Given the description of an element on the screen output the (x, y) to click on. 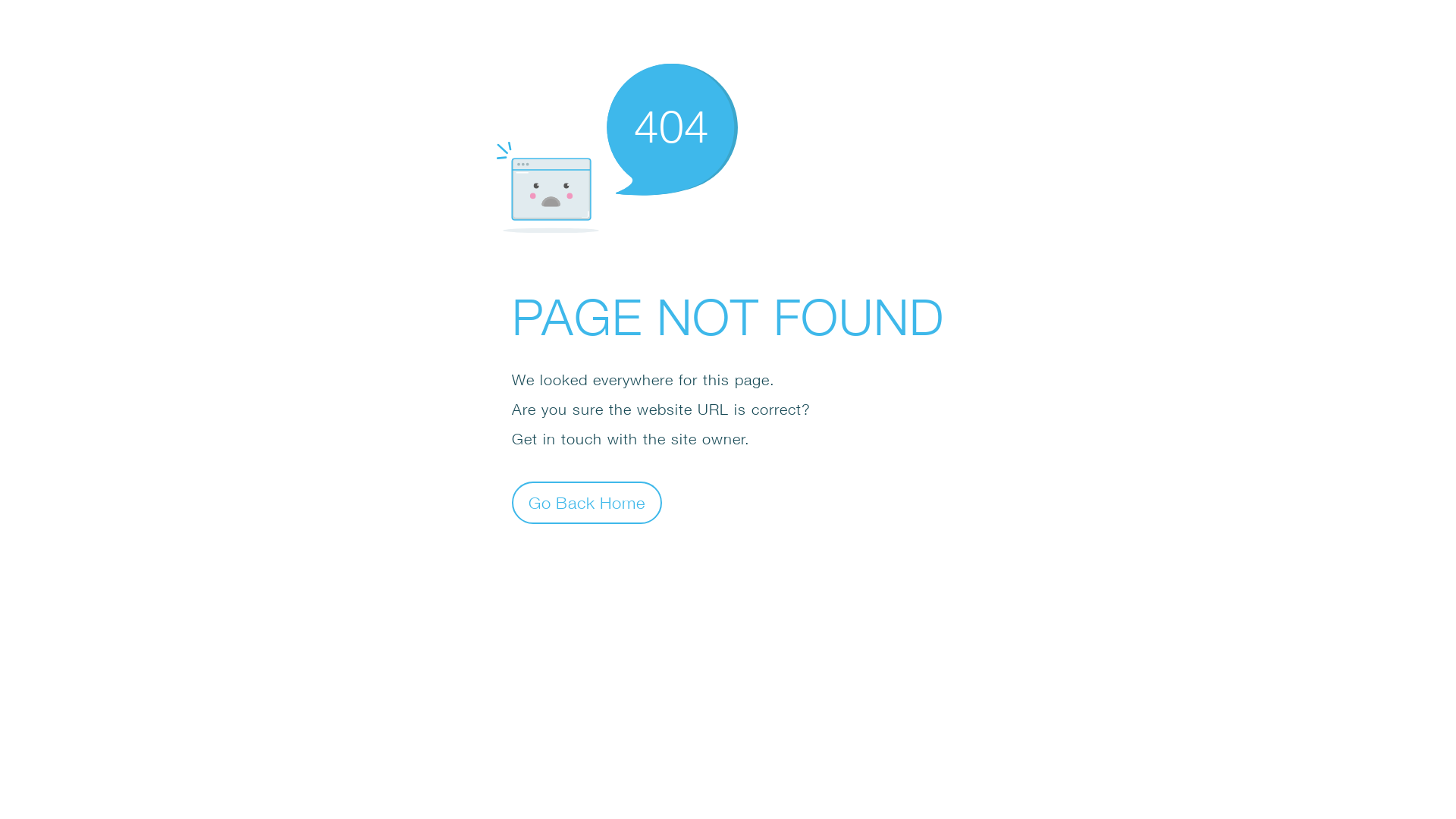
Go Back Home Element type: text (586, 502)
